Given the description of an element on the screen output the (x, y) to click on. 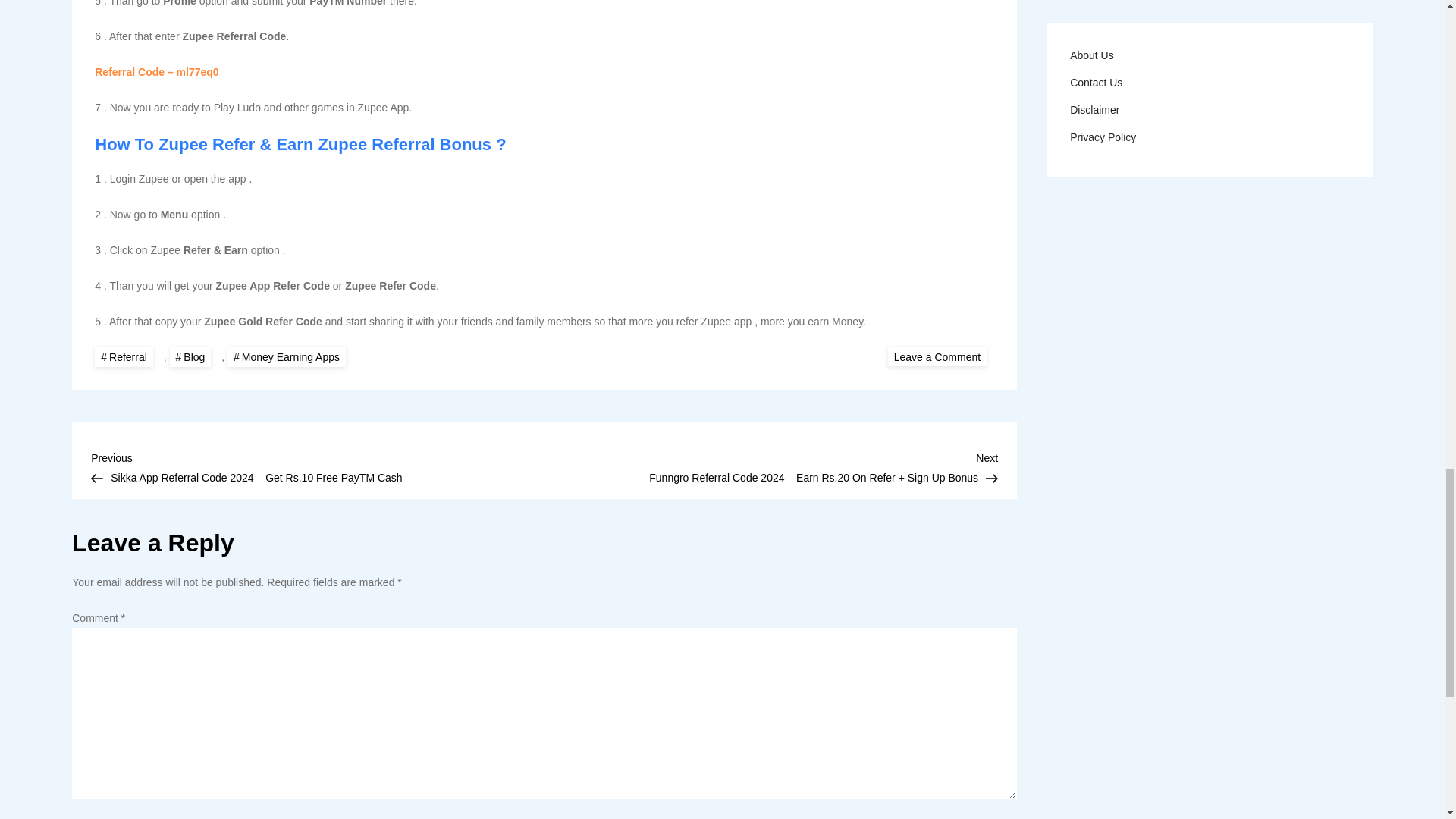
Blog (190, 356)
Money Earning Apps (286, 356)
Referral (123, 356)
